Given the description of an element on the screen output the (x, y) to click on. 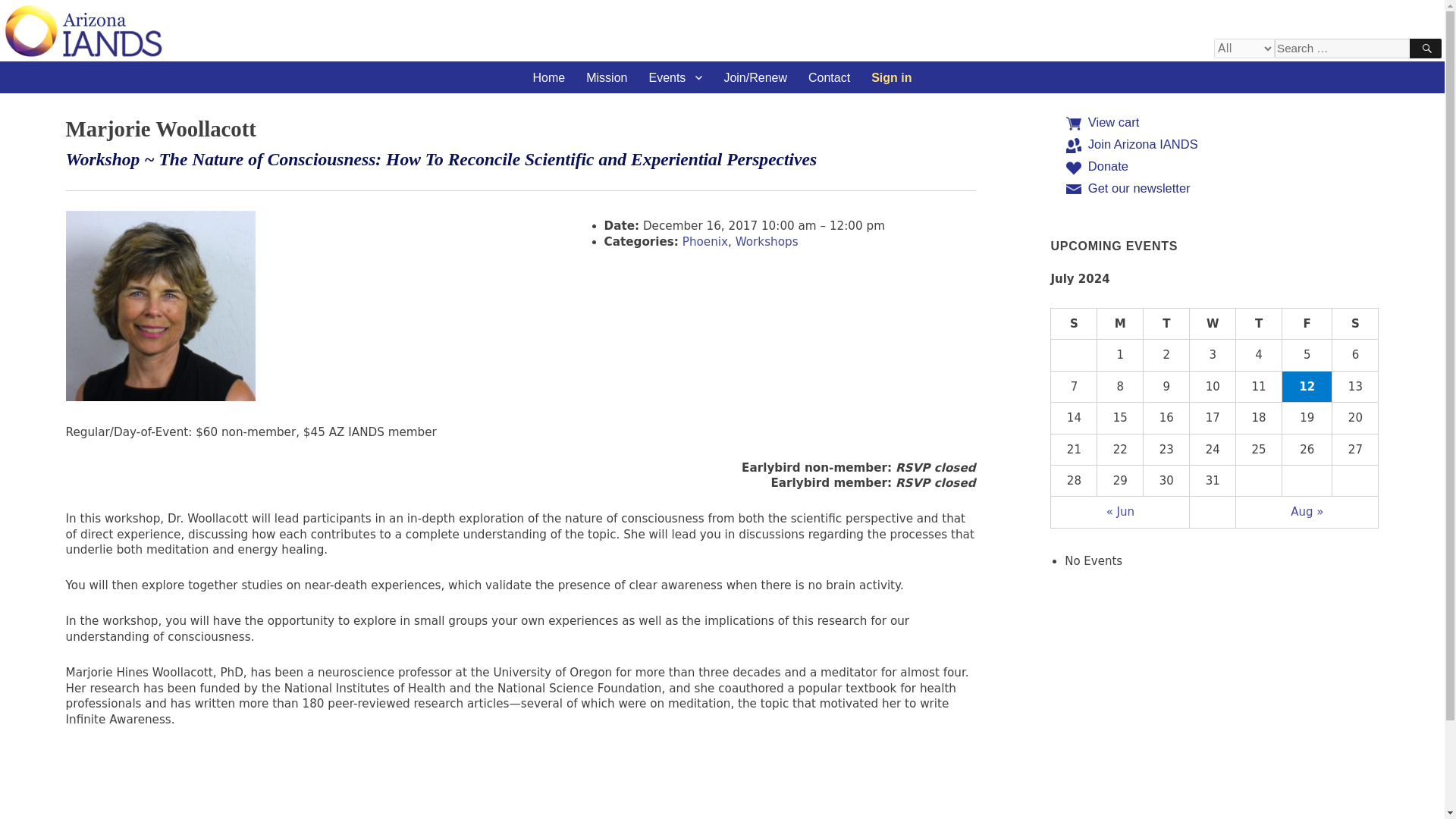
SEARCH (1425, 48)
12 (1307, 386)
Monday (1119, 323)
Previous month (1120, 511)
Search for: (1358, 48)
AZ IANDS July Meeting (1307, 386)
Saturday (1355, 323)
Wednesday (1212, 323)
Sunday (1074, 323)
Thursday (1259, 323)
Tuesday (1165, 323)
Events (675, 77)
Phoenix (705, 241)
Contact (828, 77)
Join Arizona IANDS (1142, 143)
